Given the description of an element on the screen output the (x, y) to click on. 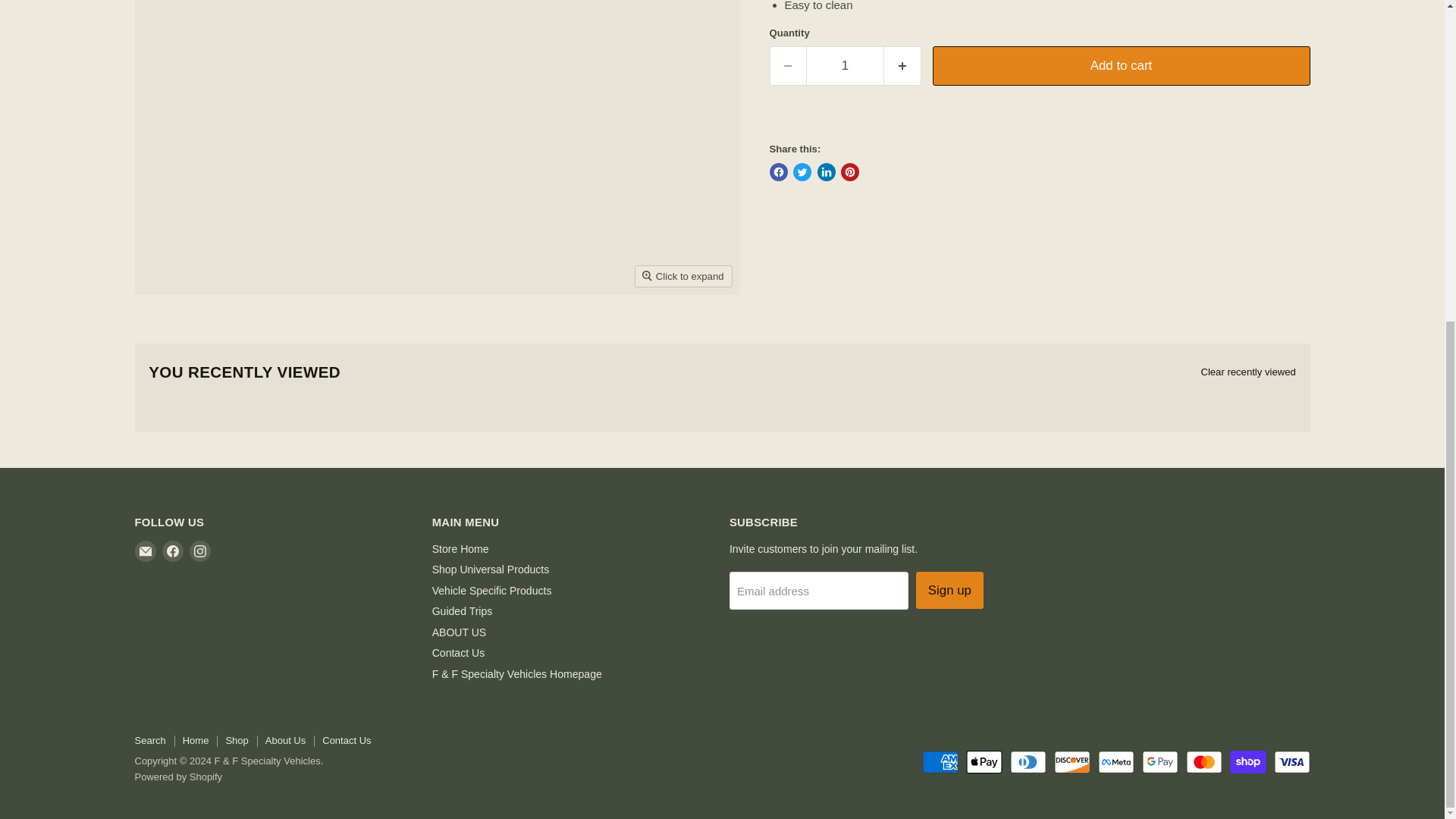
Facebook (172, 550)
Instagram (200, 550)
Email (145, 550)
American Express (939, 762)
1 (844, 65)
